Given the description of an element on the screen output the (x, y) to click on. 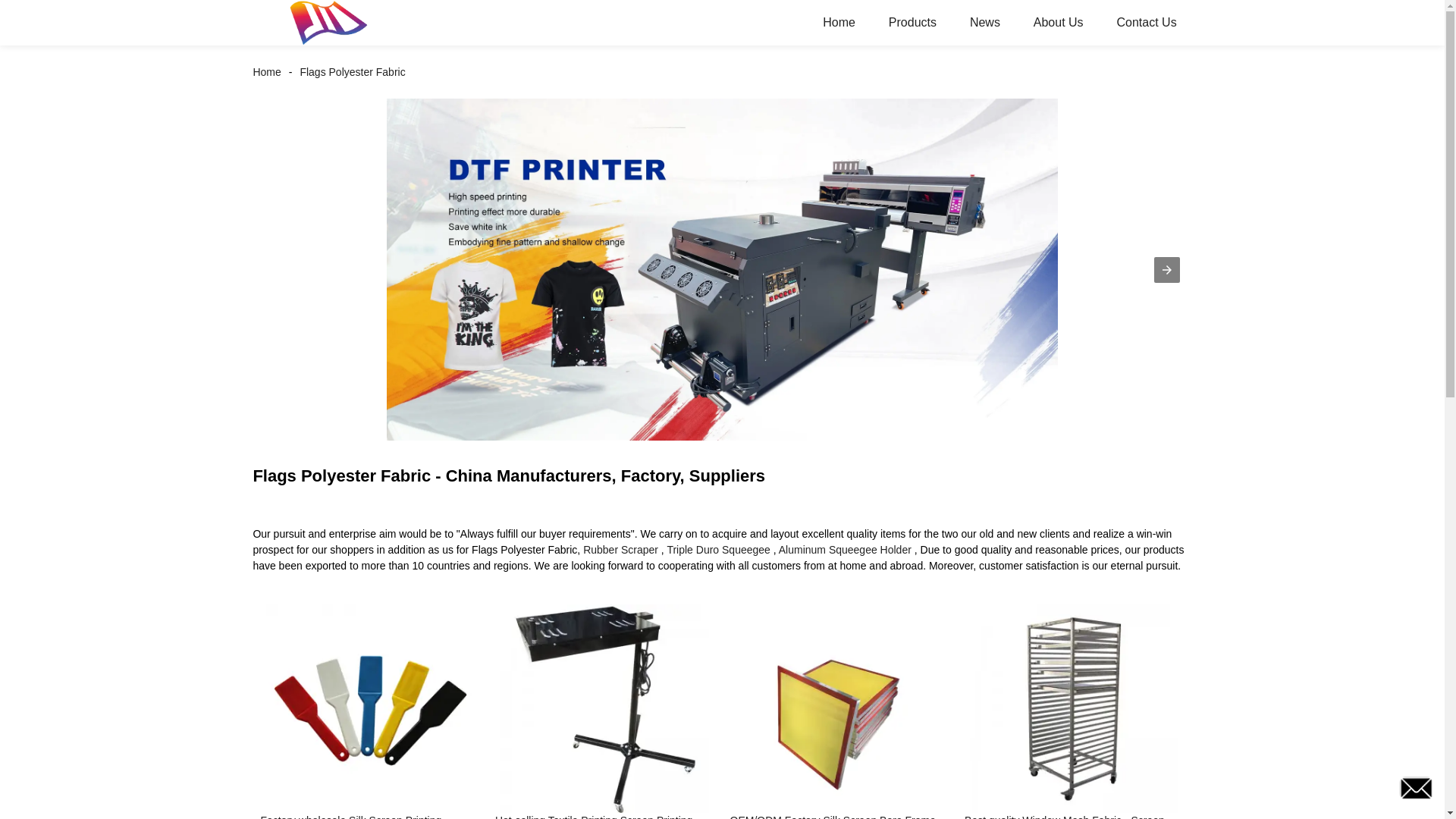
Products (912, 22)
Aluminum Squeegee Holder (844, 549)
Home (269, 71)
Triple Duro Squeegee (718, 549)
Home (839, 22)
Triple Duro Squeegee (718, 549)
News (984, 22)
Rubber Scraper (620, 549)
Flags Polyester Fabric (352, 71)
Contact Us (1145, 22)
Rubber Scraper (620, 549)
About Us (1058, 22)
Aluminum Squeegee Holder (844, 549)
